Given the description of an element on the screen output the (x, y) to click on. 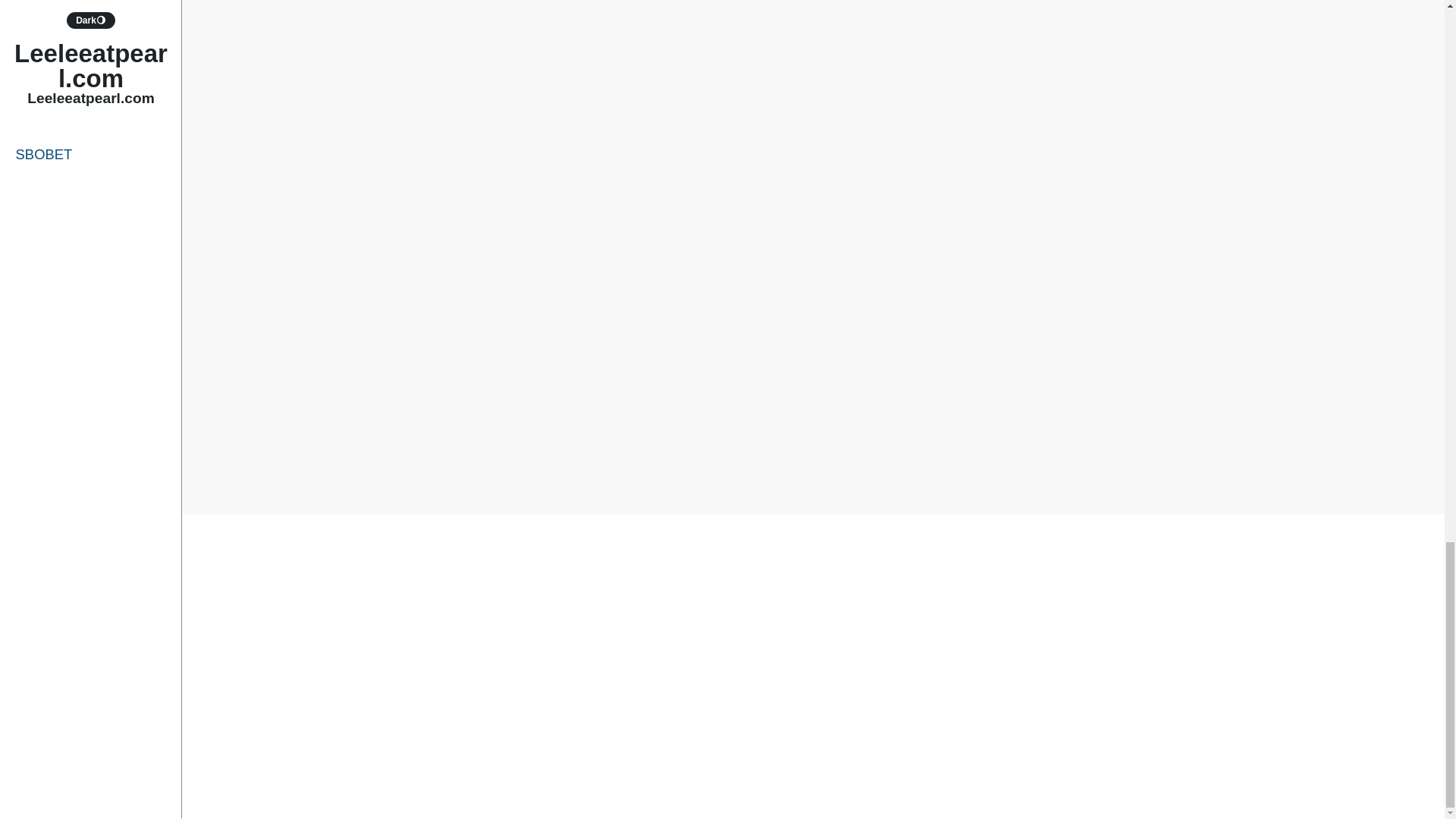
nomor togel sidney (634, 461)
keluaran sdy live (945, 441)
pengeluaran sdy hari ini (1003, 461)
pengeluaran sdy live (596, 481)
data togel sdy (769, 422)
data sahabat sdy (942, 401)
togel sidney hari ini (974, 481)
data pengeluaran sdy (829, 401)
keluaran sdy hari ini tercepat (687, 441)
data sdy hari ini (583, 422)
togel hari ini sidney (861, 481)
pengeluaran sdy 6d (875, 461)
keluaran sdy hari ini (801, 431)
keluaran togel sidney (808, 451)
data sdy master (678, 422)
